Given the description of an element on the screen output the (x, y) to click on. 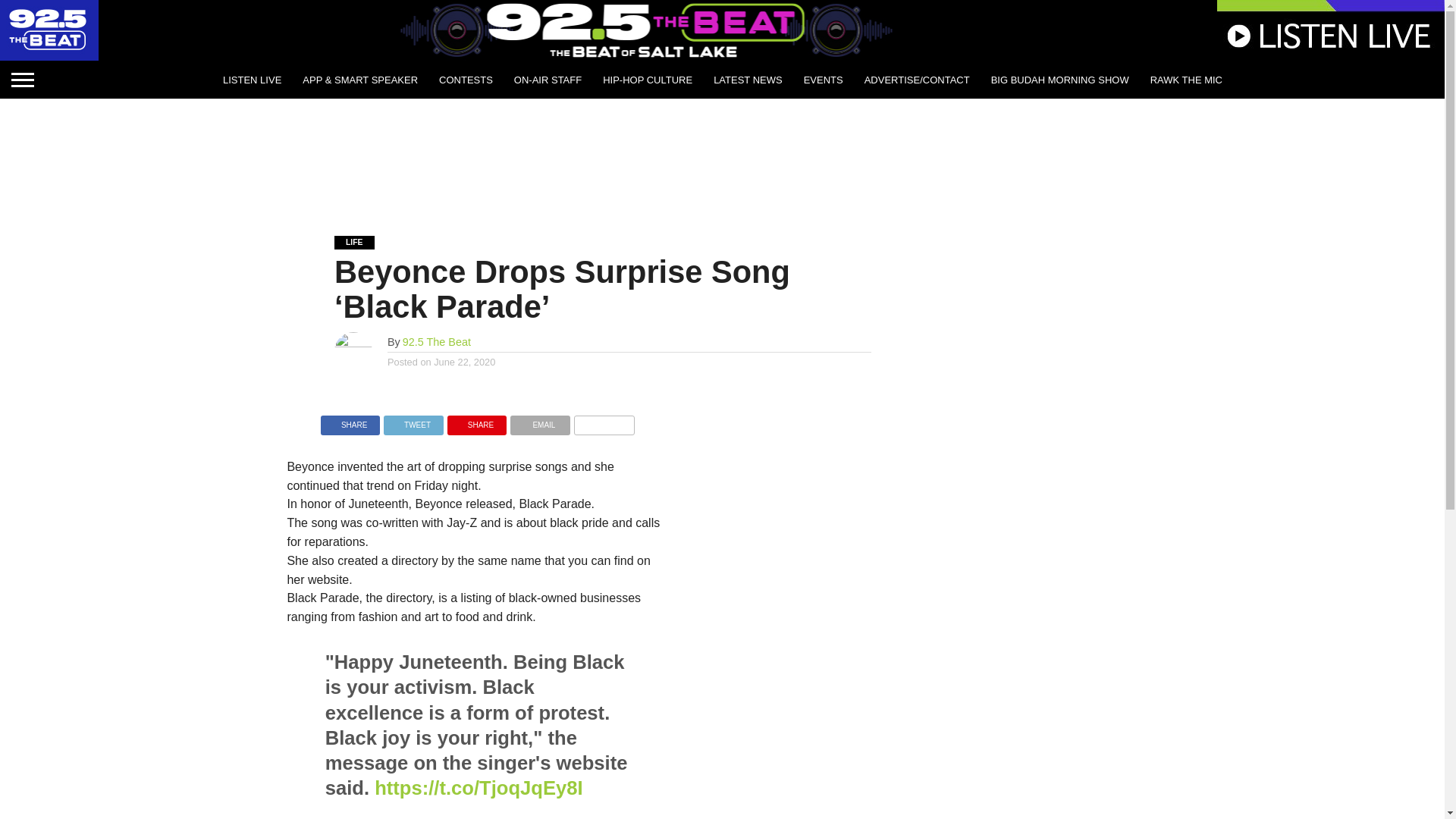
BIG BUDAH MORNING SHOW (1059, 79)
Posts by 92.5 The Beat (436, 341)
Share on Facebook (350, 420)
92.5 The Beat (436, 341)
Advertisement (721, 156)
HIP-HOP CULTURE (647, 79)
EVENTS (823, 79)
CONTESTS (465, 79)
Pin This Post (476, 420)
LATEST NEWS (748, 79)
EMAIL (540, 420)
LISTEN LIVE (252, 79)
ON-AIR STAFF (547, 79)
SHARE (476, 420)
Tweet This Post (414, 420)
